Given the description of an element on the screen output the (x, y) to click on. 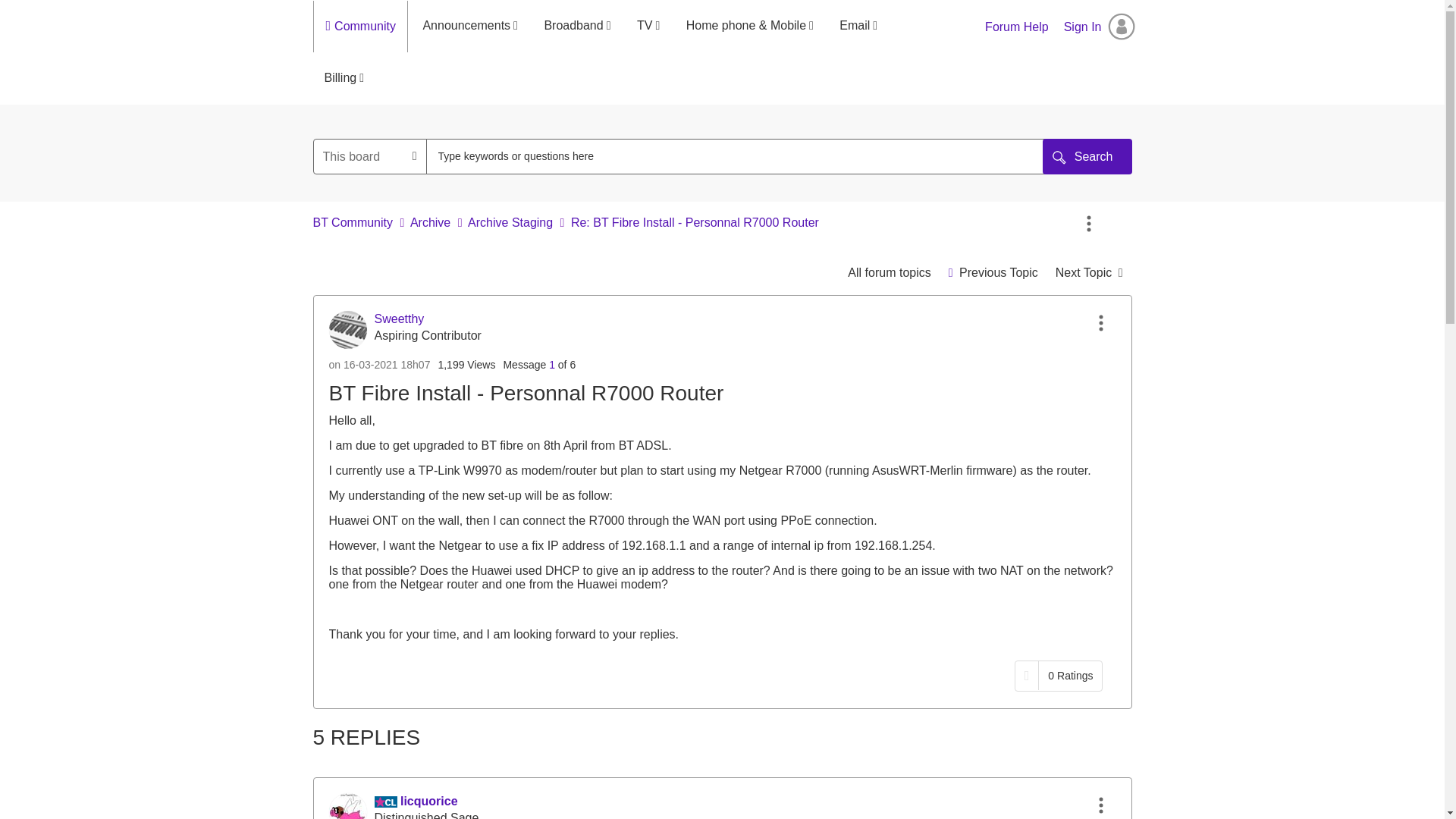
BT Community (353, 222)
Search (742, 156)
Search (1087, 156)
Forum Help (1016, 26)
Show option menu (1088, 223)
Email (858, 25)
Search Granularity (370, 156)
Sign In (1099, 26)
Community (368, 26)
Archive Staging (888, 272)
